Given the description of an element on the screen output the (x, y) to click on. 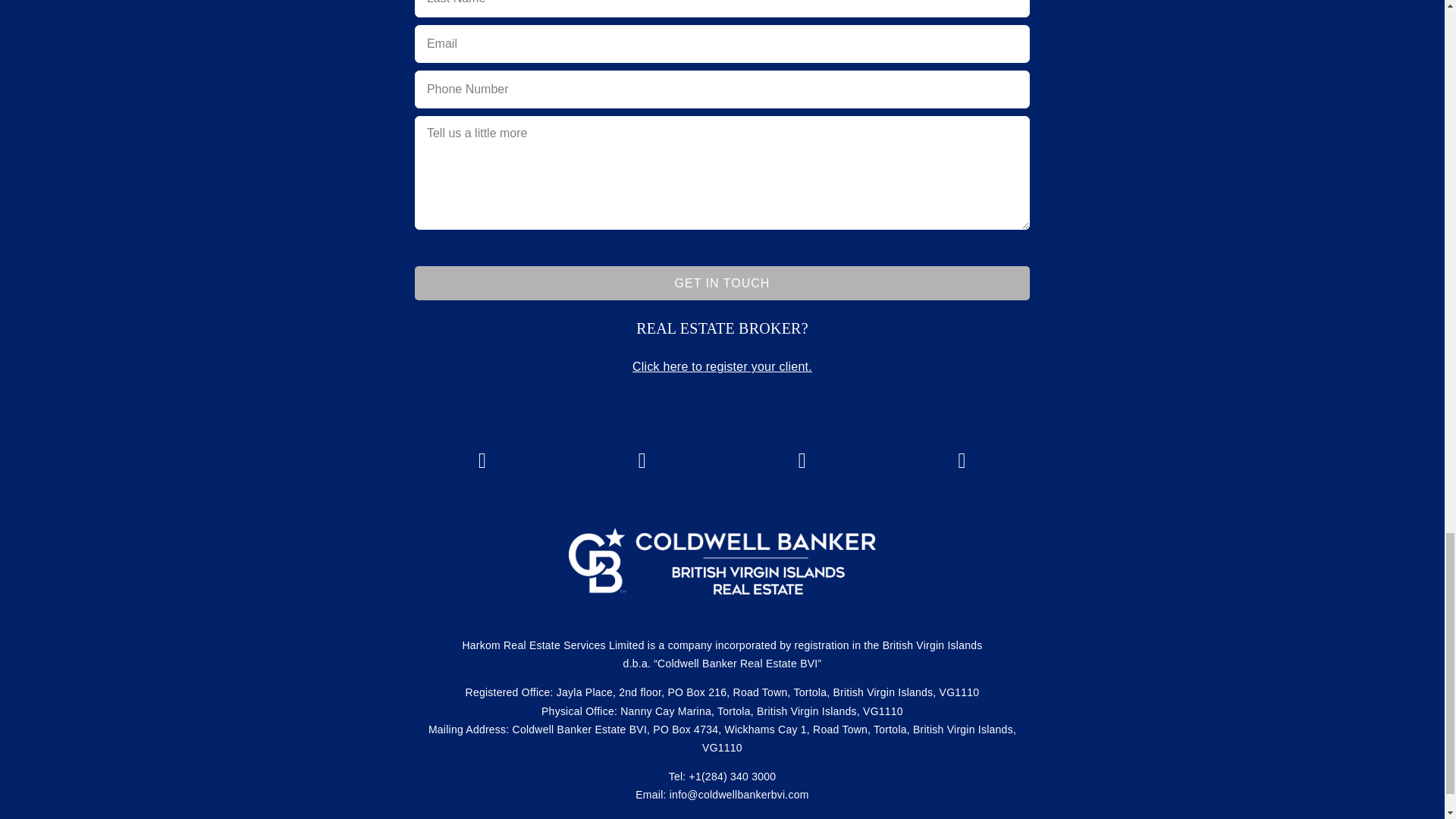
CBBVI website logo 2024 transparent background 3 (722, 560)
Page 1 (721, 328)
GET IN TOUCH (721, 283)
